Given the description of an element on the screen output the (x, y) to click on. 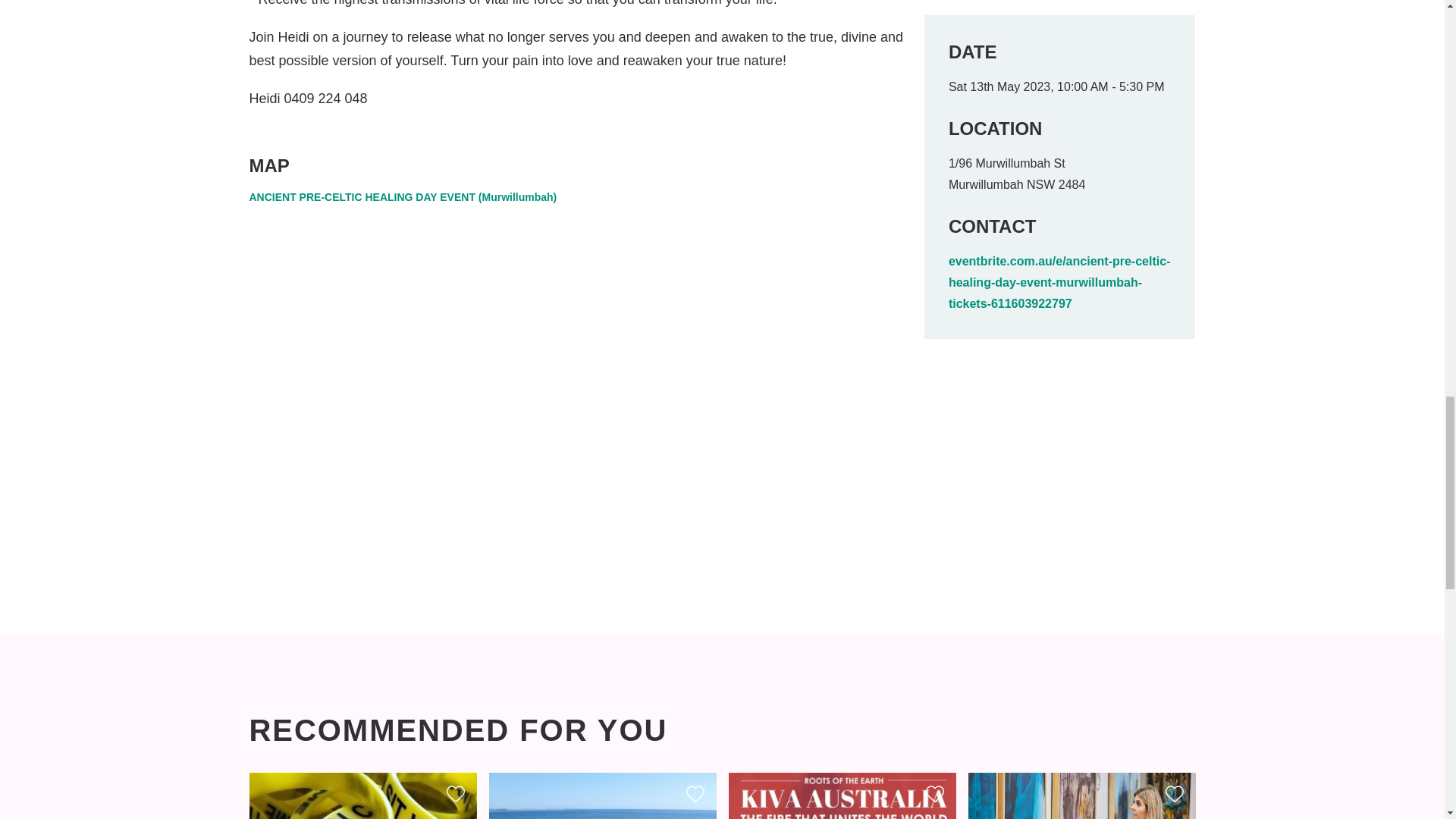
lEJLdA3D135fcabc-7e73-4f3b-9974-8886803c07db.jpeg (841, 796)
